Given the description of an element on the screen output the (x, y) to click on. 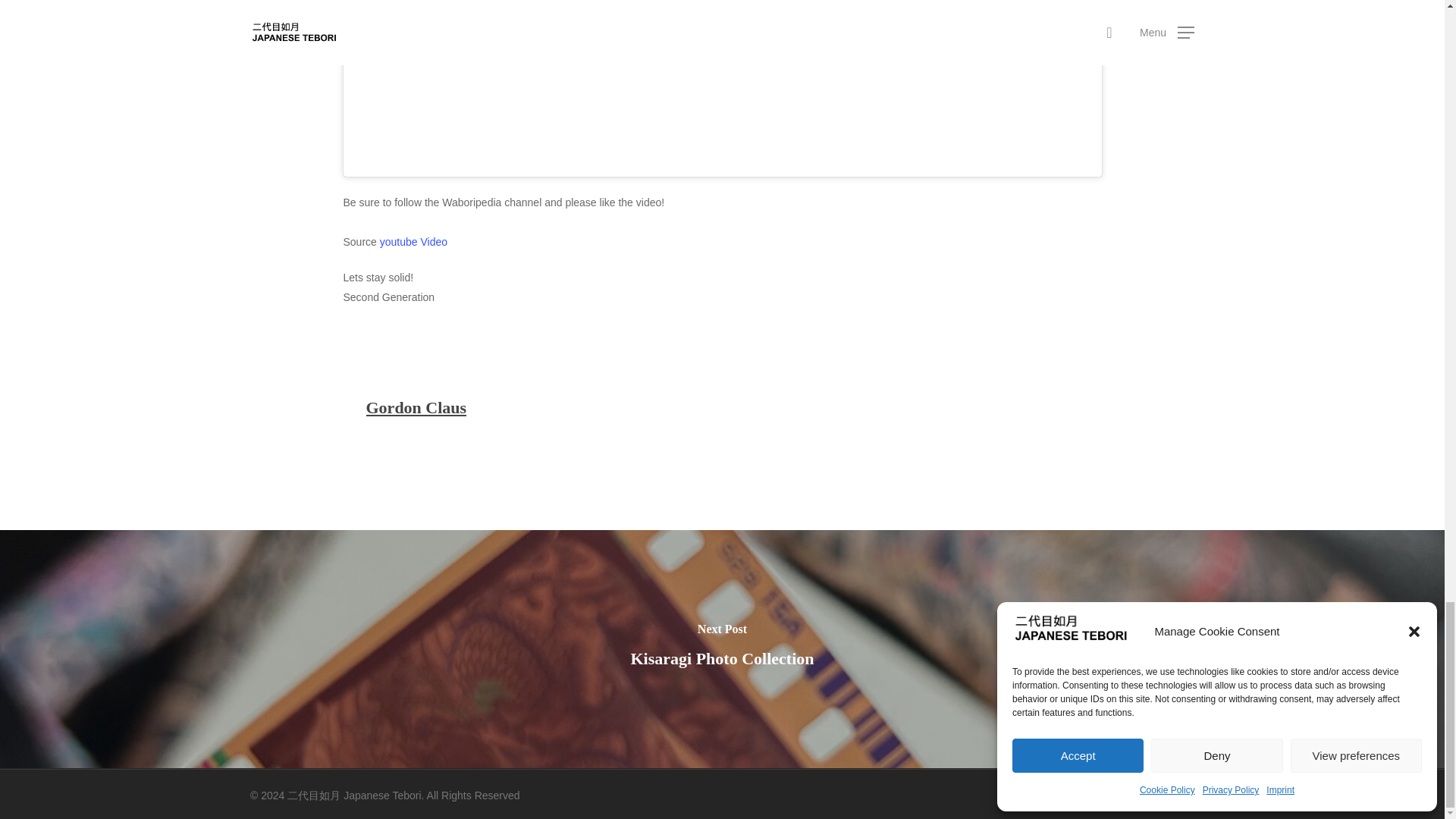
youtube Video (413, 241)
Gordon Claus (415, 407)
